Given the description of an element on the screen output the (x, y) to click on. 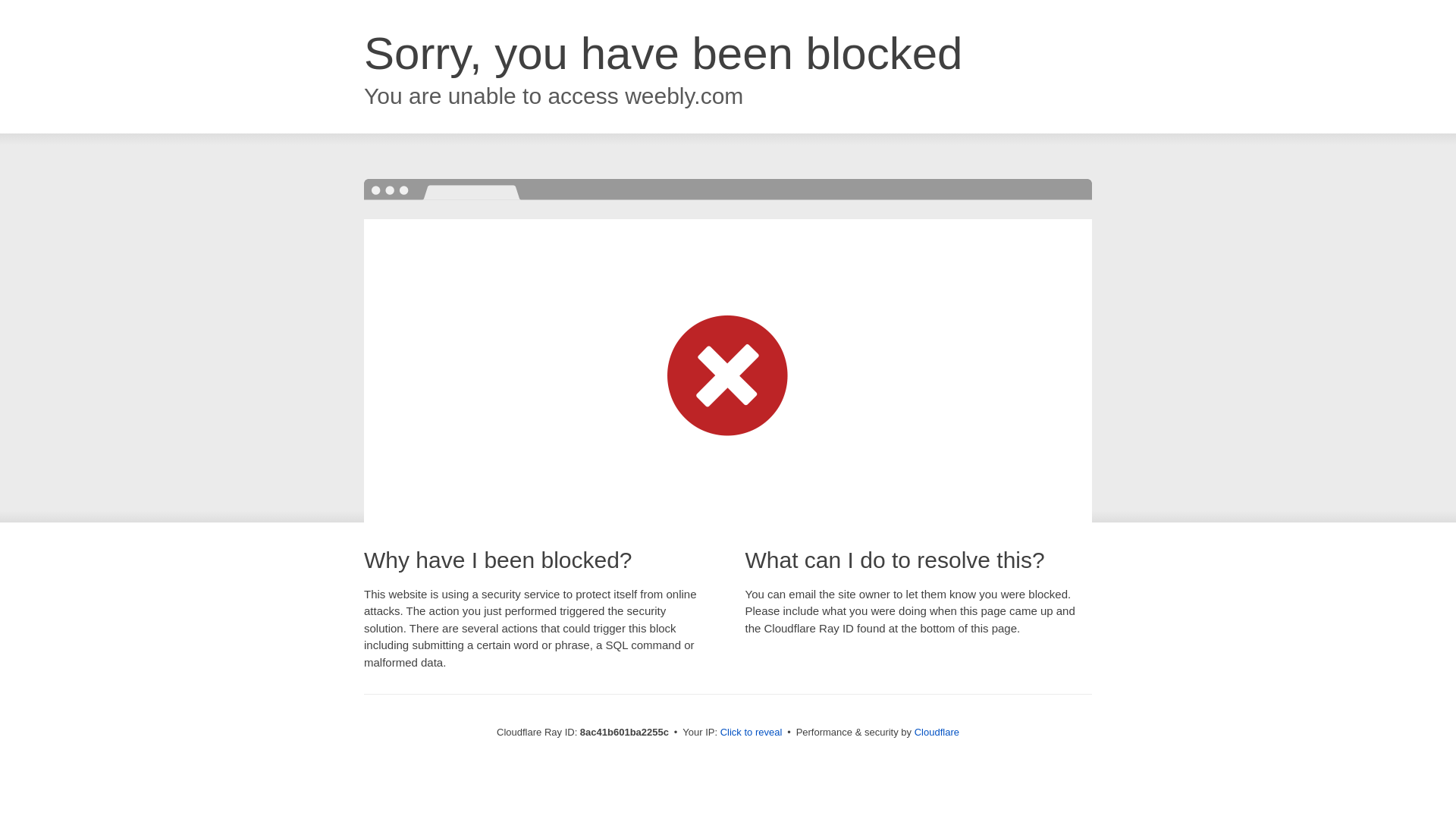
Click to reveal (751, 732)
Cloudflare (936, 731)
